Given the description of an element on the screen output the (x, y) to click on. 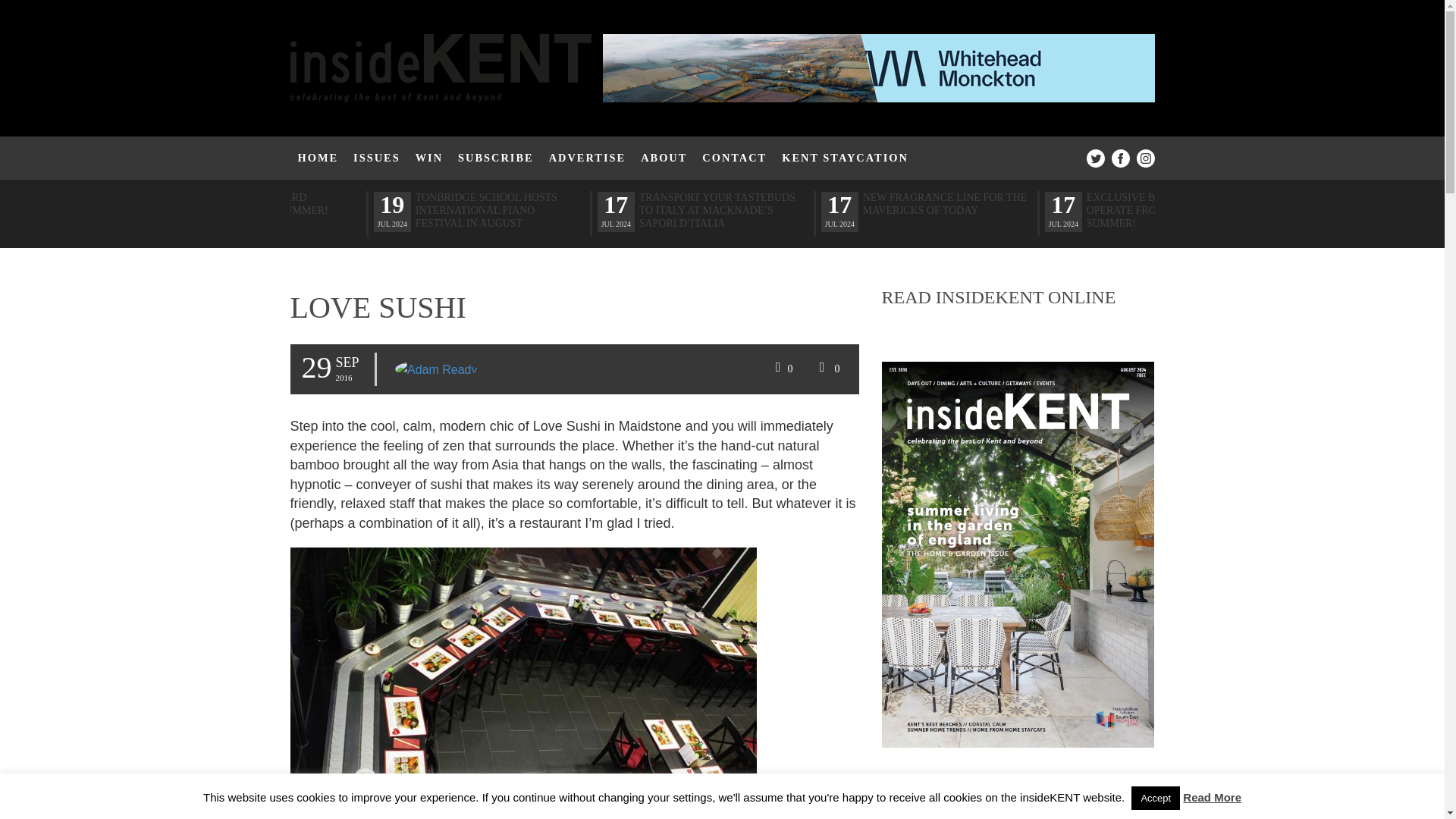
BECOME A DOCKYARD DETECTIVE THIS SUMMER! (275, 203)
I like this (781, 369)
CONTACT (734, 158)
HOME (317, 158)
View all posts by Adam Ready (435, 369)
ABOUT (663, 158)
ADVERTISE (587, 158)
WIN (428, 158)
SUBSCRIBE (495, 158)
ISSUES (376, 158)
EXCLUSIVE BEACH BUS TO OPERATE FROM ASHFORD THIS SUMMER! (1169, 210)
NEW FRAGRANCE LINE FOR THE MAVERICKS OF TODAY (946, 203)
KENT STAYCATION (844, 158)
